Given the description of an element on the screen output the (x, y) to click on. 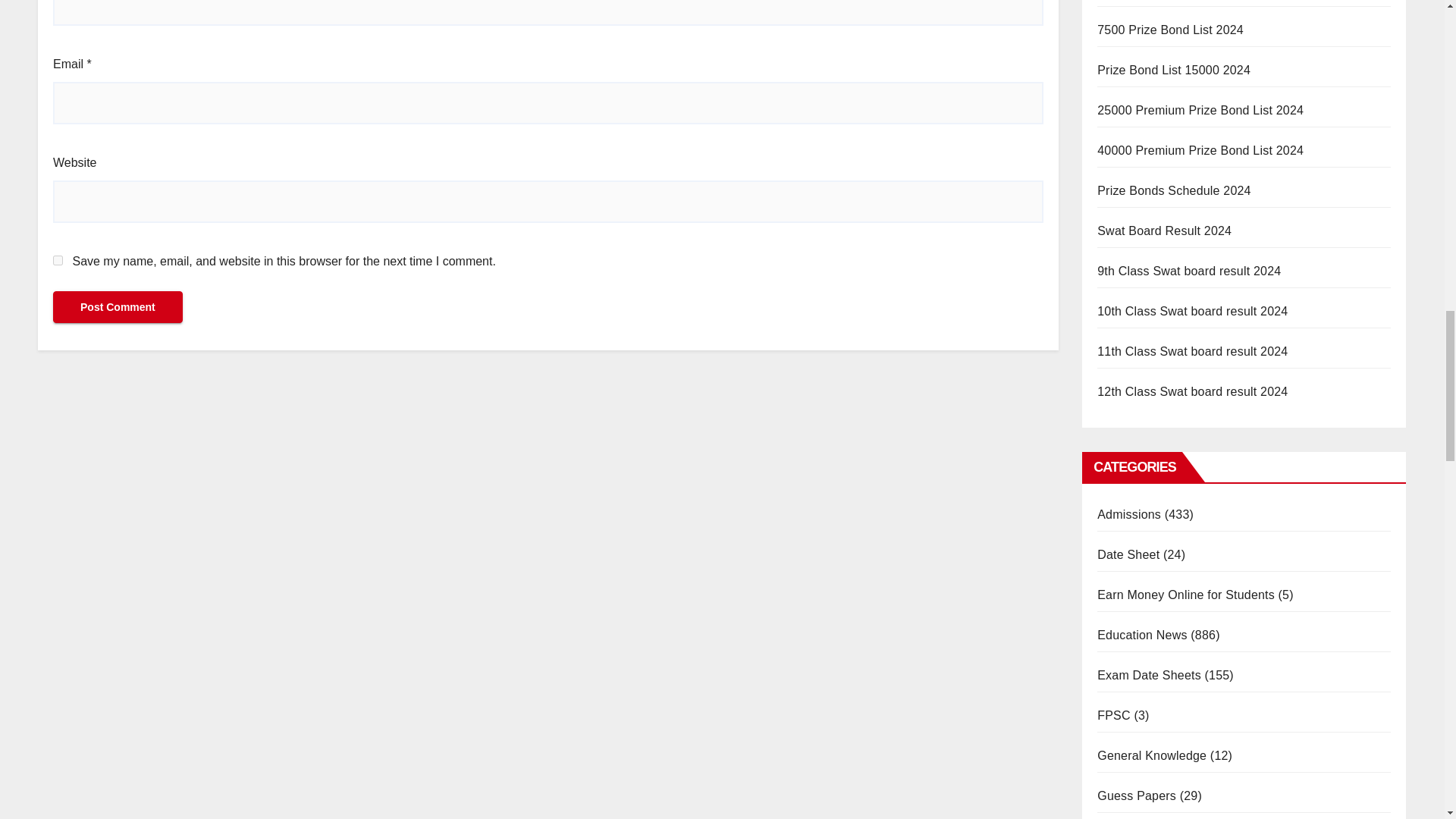
Post Comment (117, 306)
yes (57, 260)
